Given the description of an element on the screen output the (x, y) to click on. 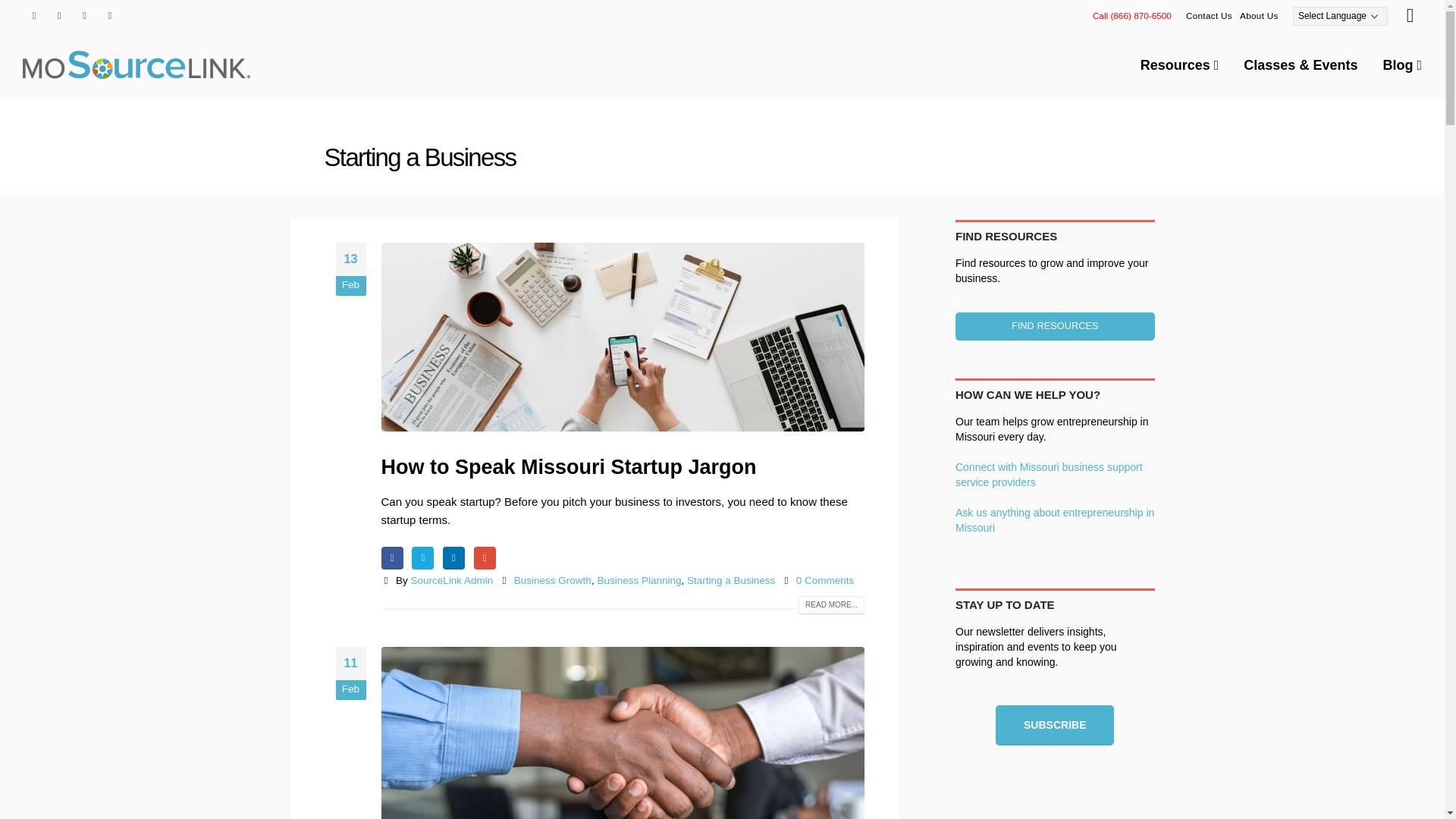
About Us (1259, 15)
RSS (85, 15)
MOSourceLink -  (136, 64)
LinkedIn (109, 15)
Blog (1402, 64)
Twitter (58, 15)
Resources (1179, 64)
Contact Us (1209, 15)
Facebook (34, 15)
